Given the description of an element on the screen output the (x, y) to click on. 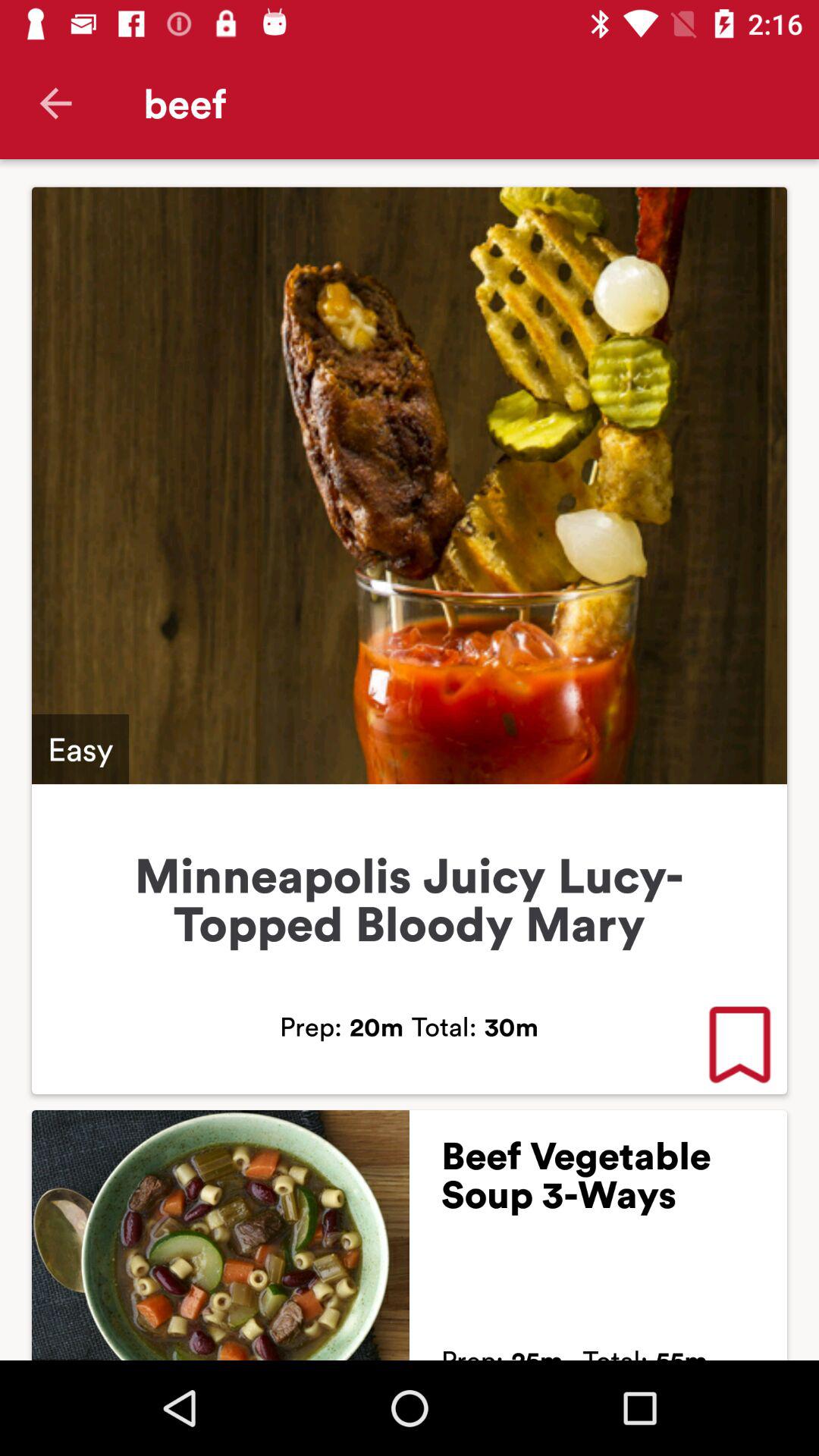
select item next to 30m (739, 1046)
